Given the description of an element on the screen output the (x, y) to click on. 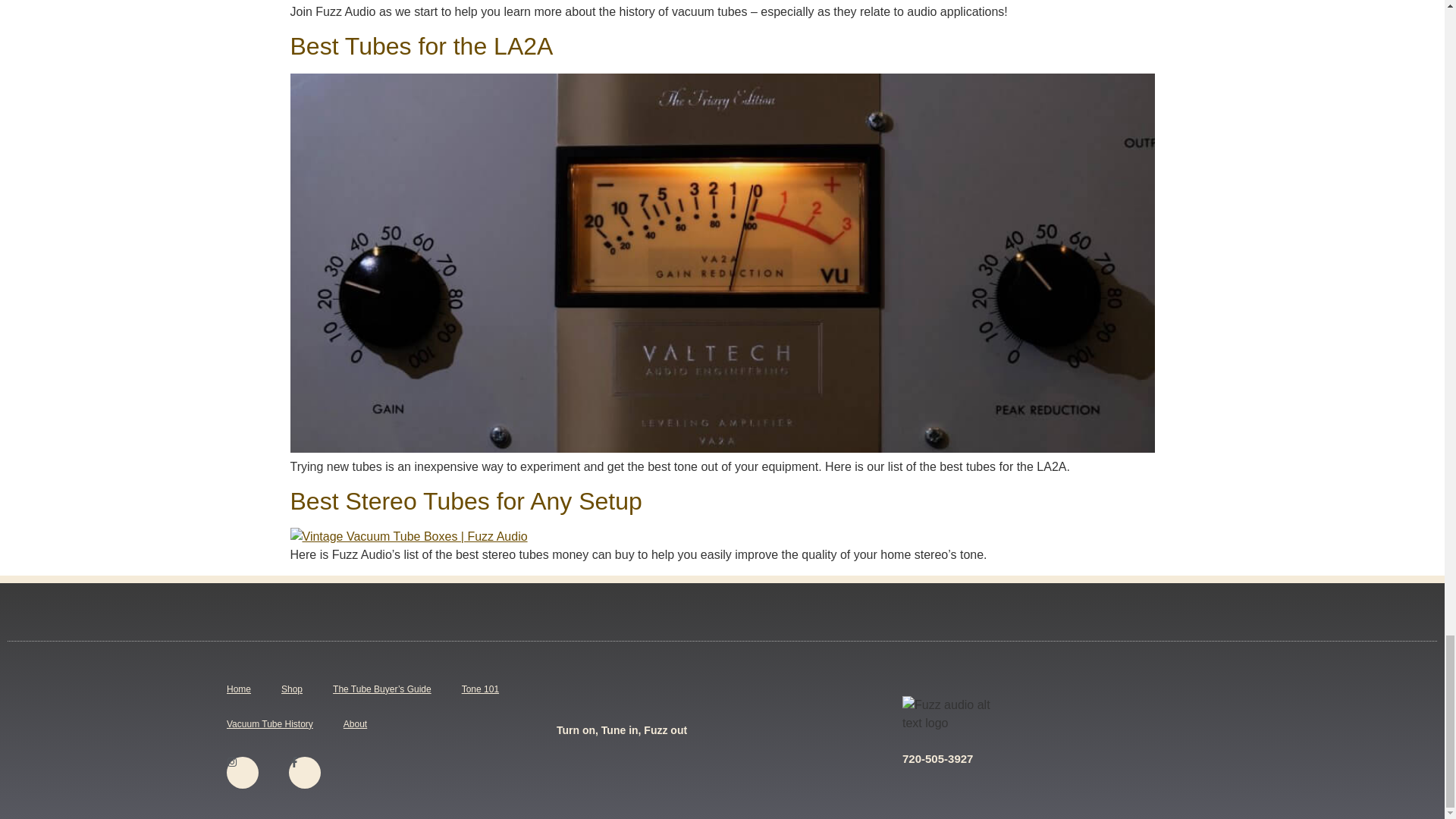
Vacuum Tube History (270, 724)
Best Stereo Tubes for Any Setup (465, 501)
About (355, 724)
Shop (291, 688)
Best Tubes for the LA2A (421, 45)
Tone 101 (479, 688)
Home (238, 688)
